Given the description of an element on the screen output the (x, y) to click on. 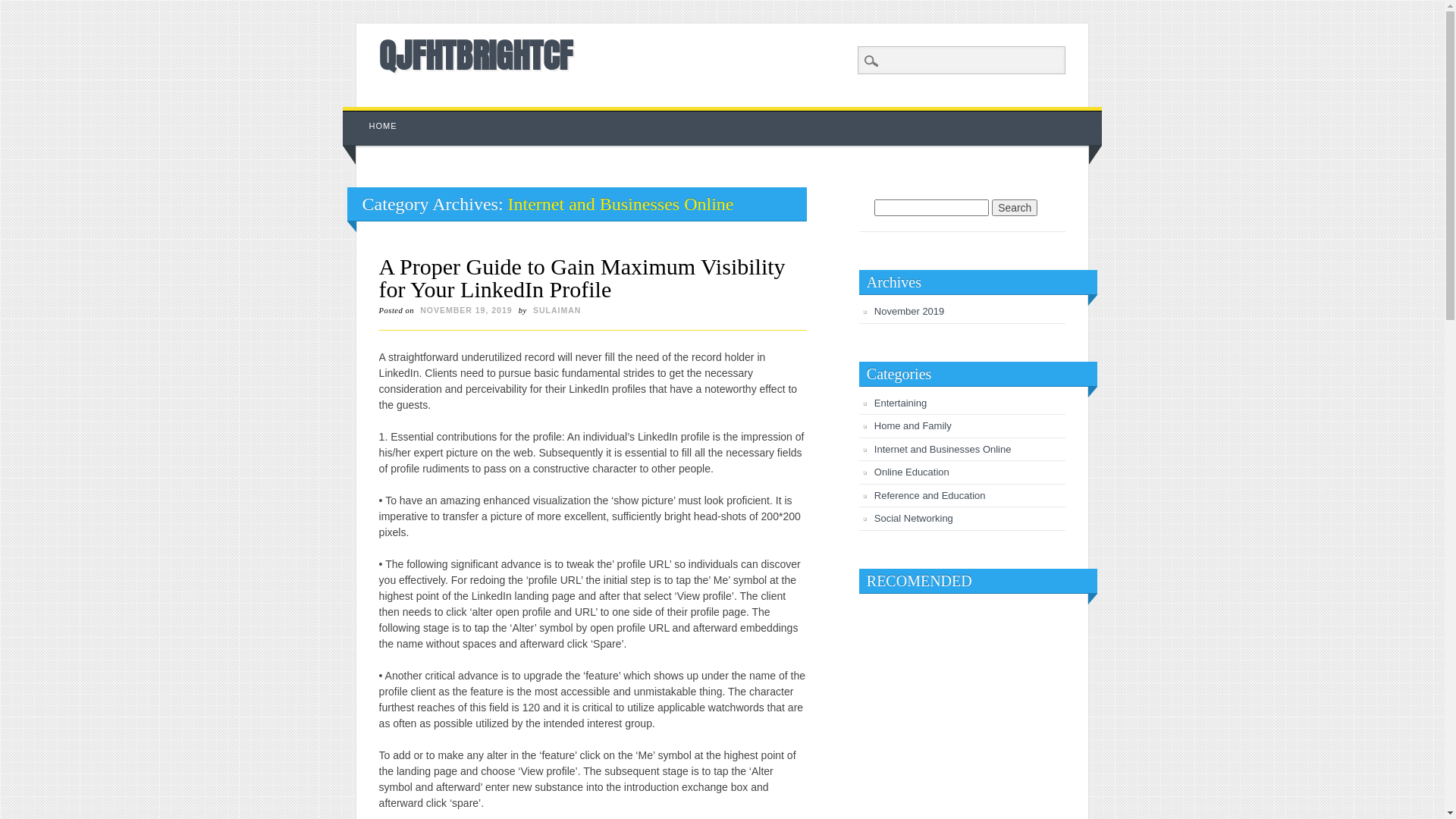
Search Element type: text (1014, 207)
Search Element type: text (22, 8)
Skip to content Element type: text (377, 114)
Entertaining Element type: text (900, 402)
QJFHTBRIGHTCF Element type: text (475, 55)
Home and Family Element type: text (912, 425)
Social Networking Element type: text (913, 518)
Reference and Education Element type: text (929, 495)
SULAIMAN Element type: text (556, 309)
Internet and Businesses Online Element type: text (942, 449)
NOVEMBER 19, 2019 Element type: text (465, 309)
HOME Element type: text (383, 125)
Online Education Element type: text (911, 471)
November 2019 Element type: text (909, 310)
